Given the description of an element on the screen output the (x, y) to click on. 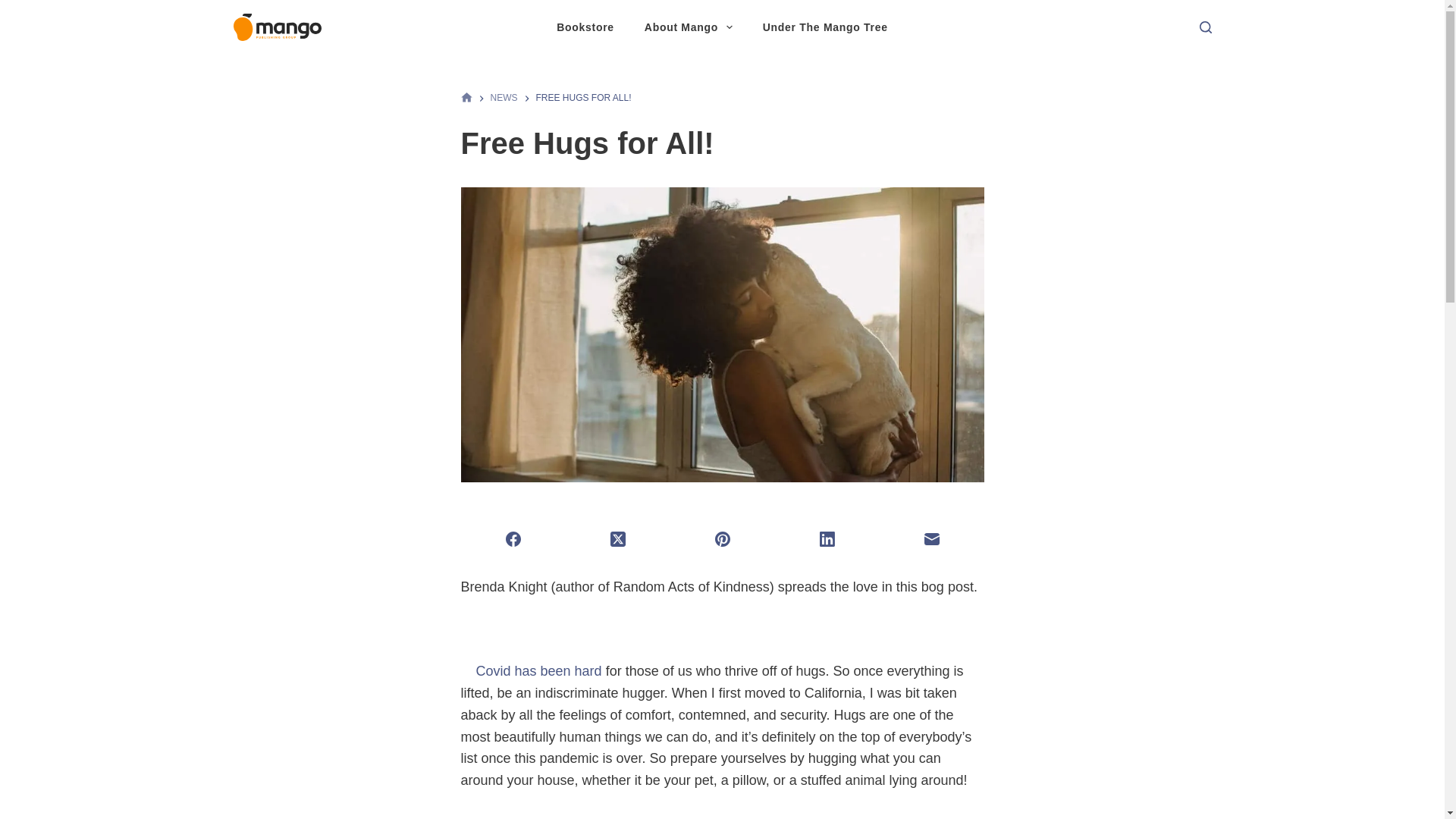
Covid has been hard (540, 670)
About Mango (688, 27)
NEWS (502, 97)
Bookstore (584, 27)
Skip to content (15, 7)
Under The Mango Tree (825, 27)
Free Hugs for All! (722, 142)
